Given the description of an element on the screen output the (x, y) to click on. 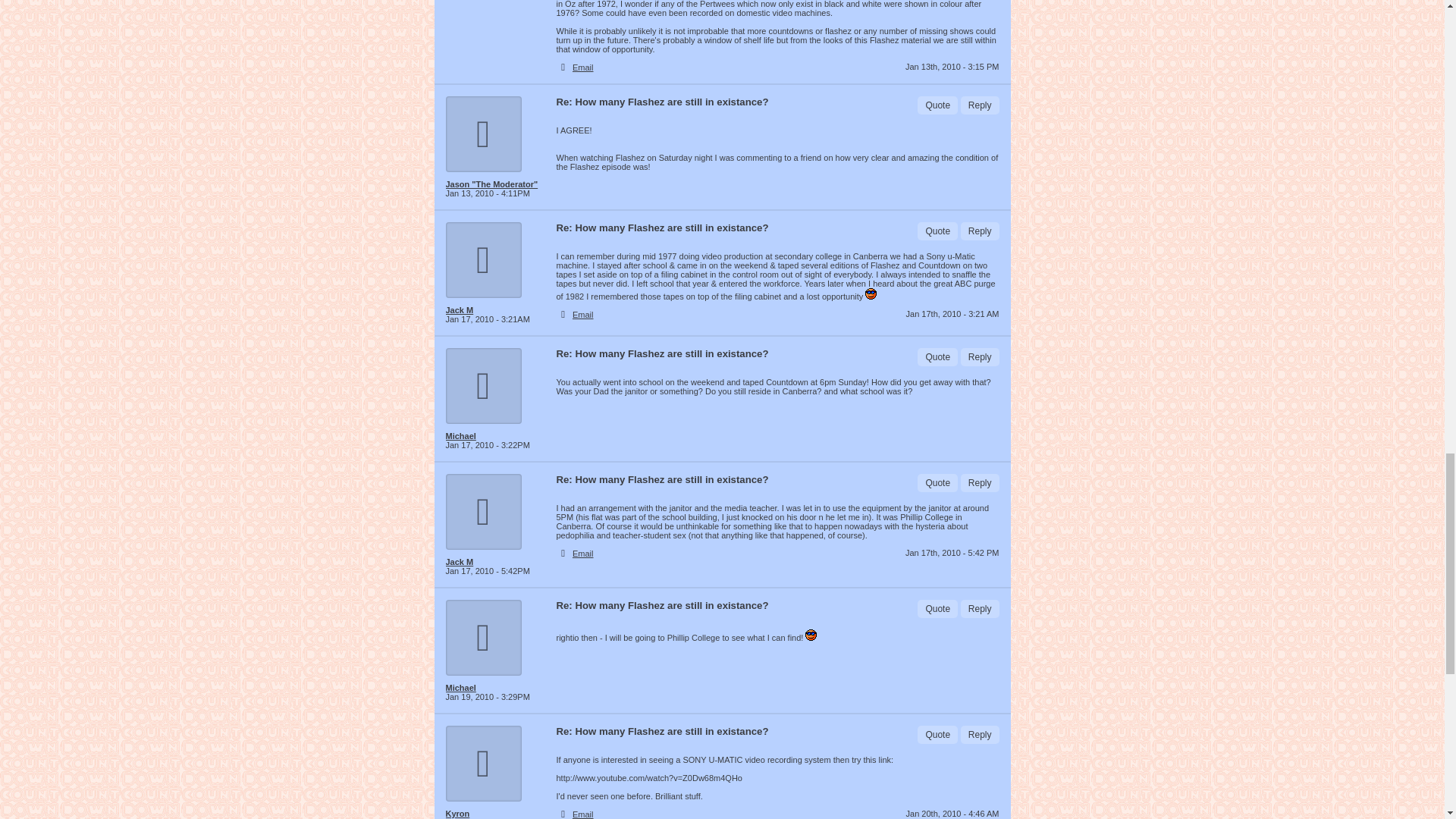
Email (583, 67)
Quote (937, 105)
Messages from this User (460, 435)
Messages from this User (491, 184)
Messages from this User (460, 687)
Messages from this User (459, 309)
Jason "The Moderator" (494, 184)
Reply (979, 105)
Messages from this User (457, 813)
Messages from this User (459, 561)
